Given the description of an element on the screen output the (x, y) to click on. 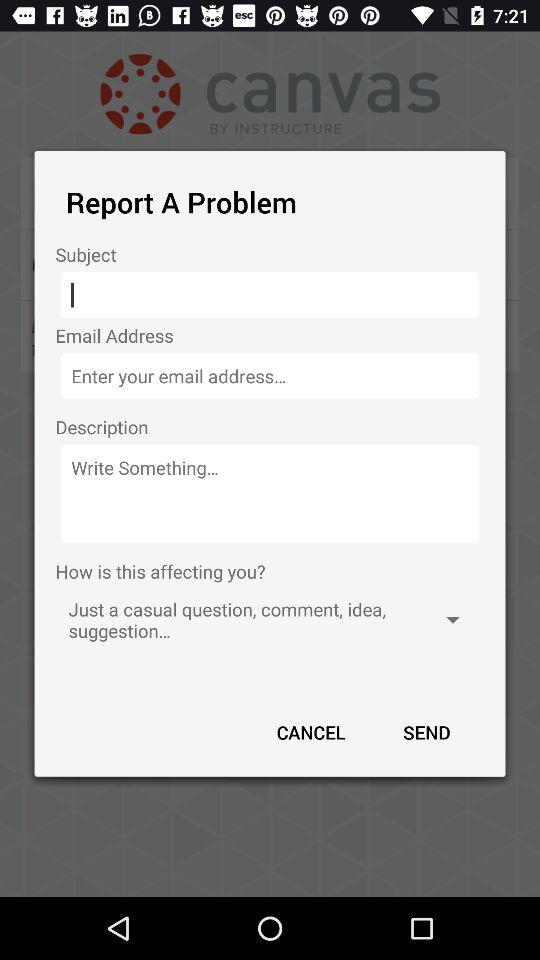
type text (269, 493)
